Given the description of an element on the screen output the (x, y) to click on. 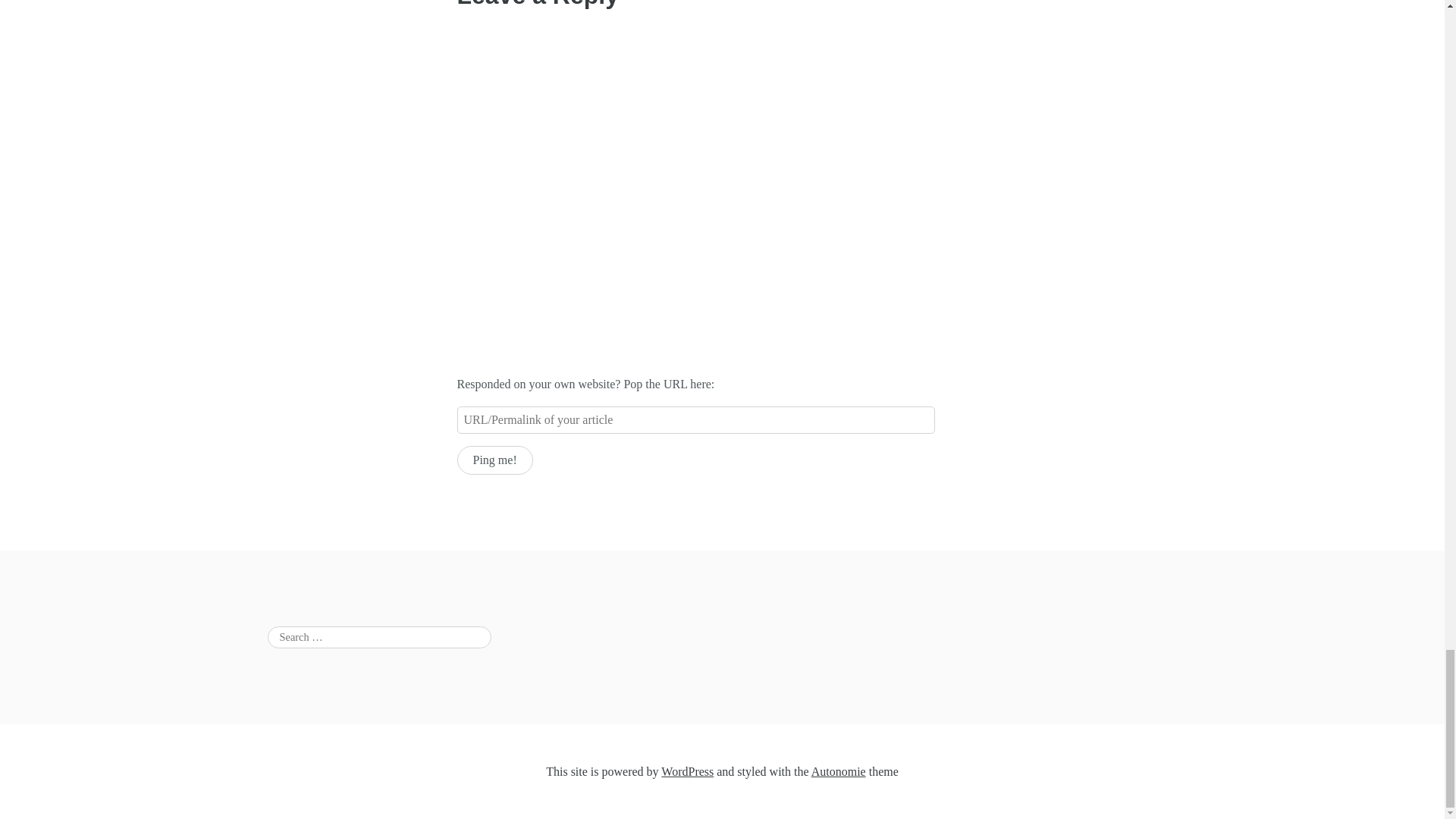
Autonomie (838, 771)
Ping me! (494, 460)
WordPress (687, 771)
Ping me! (494, 460)
